Given the description of an element on the screen output the (x, y) to click on. 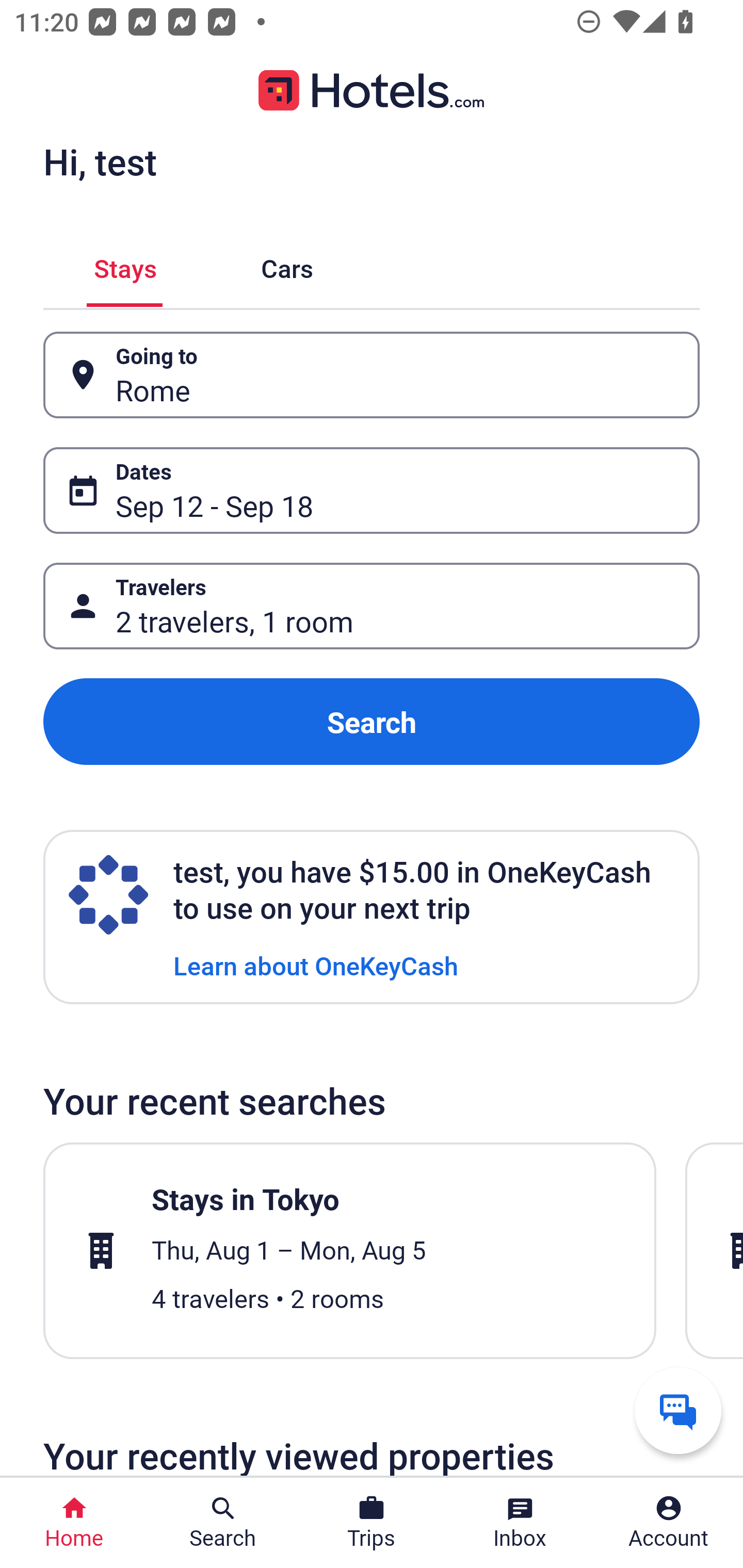
Hi, test (99, 161)
Cars (286, 265)
Going to Button Rome (371, 375)
Dates Button Sep 12 - Sep 18 (371, 489)
Travelers Button 2 travelers, 1 room (371, 605)
Search (371, 721)
Learn about OneKeyCash Learn about OneKeyCash Link (315, 964)
Get help from a virtual agent (677, 1410)
Search Search Button (222, 1522)
Trips Trips Button (371, 1522)
Inbox Inbox Button (519, 1522)
Account Profile. Button (668, 1522)
